Given the description of an element on the screen output the (x, y) to click on. 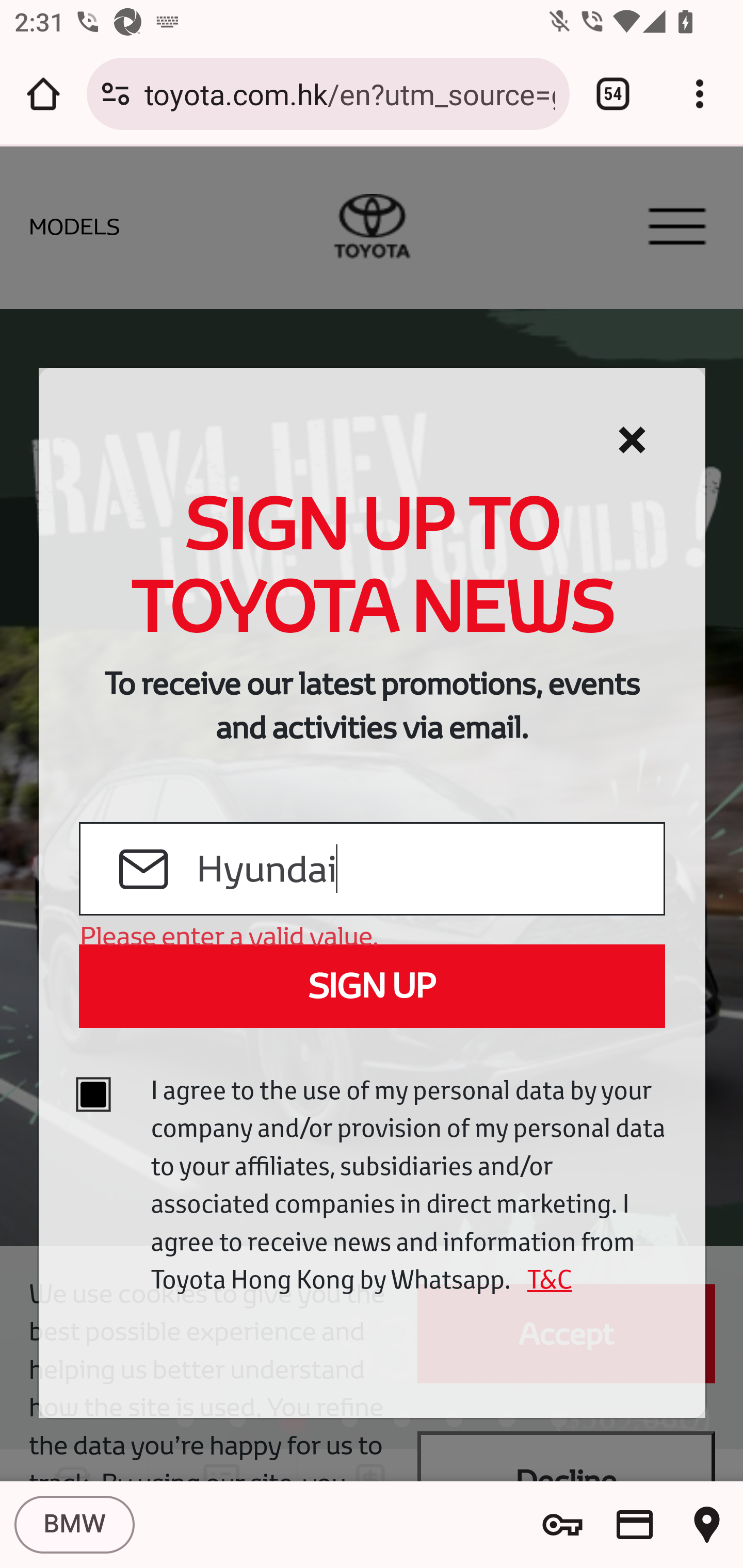
Open the home page (43, 93)
Connection is secure (115, 93)
Switch or close tabs (612, 93)
Customize and control Google Chrome (699, 93)
Cerrar (631, 440)
Hyundai (429, 869)
SIGN UP (371, 985)
T&C (543, 1279)
BMW (74, 1524)
Show saved passwords and password options (562, 1524)
Show saved payment methods (634, 1524)
Show saved addresses (706, 1524)
